Given the description of an element on the screen output the (x, y) to click on. 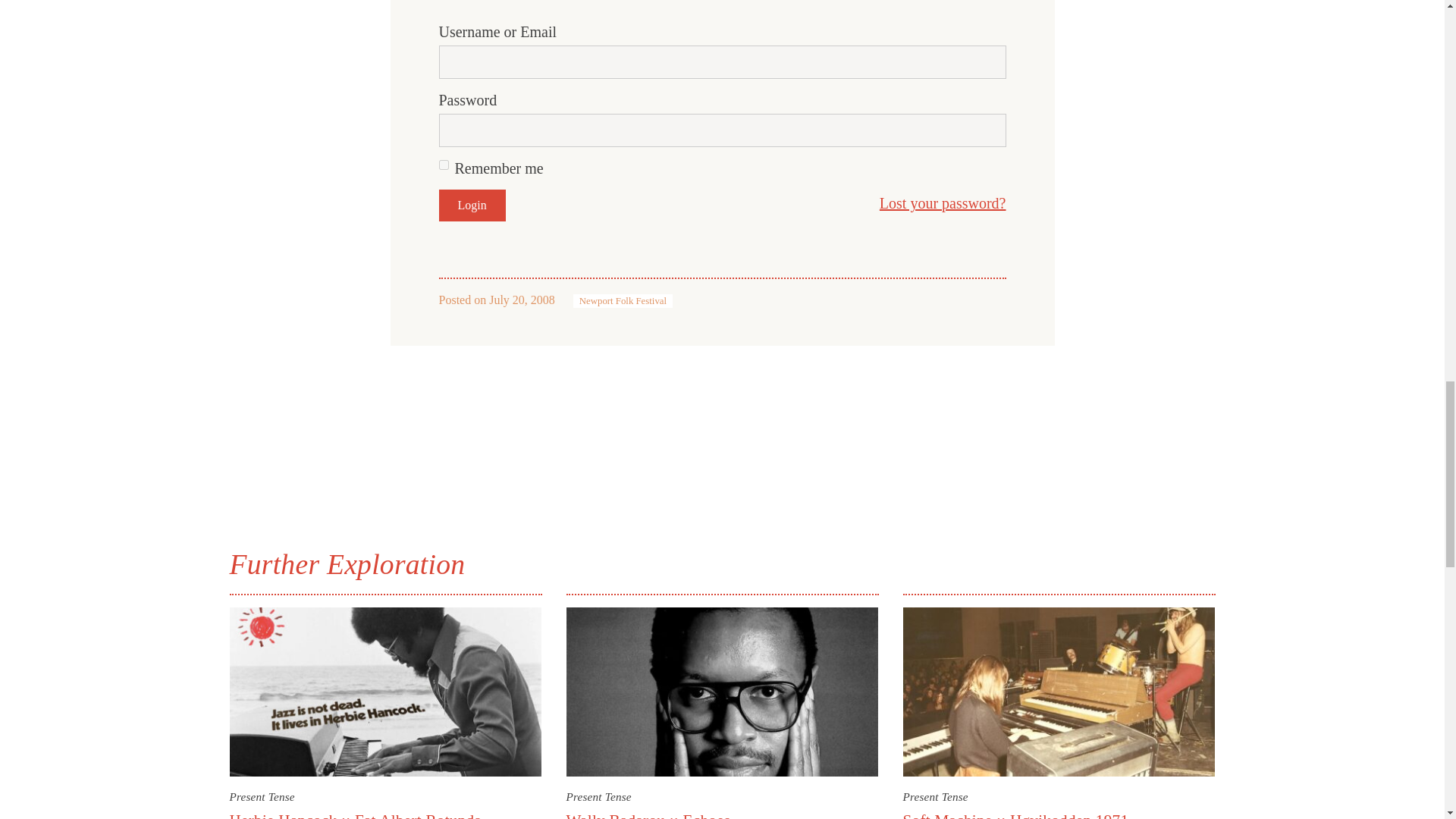
Login (471, 205)
Login (471, 205)
3rd party ad content (721, 427)
Newport Folk Festival (622, 300)
Wally Badarou :: Echoes (648, 815)
Herbie Hancock :: Fat Albert Rotunda (354, 815)
1 (443, 164)
July 20, 2008 (521, 299)
Lost your password? (942, 202)
